Given the description of an element on the screen output the (x, y) to click on. 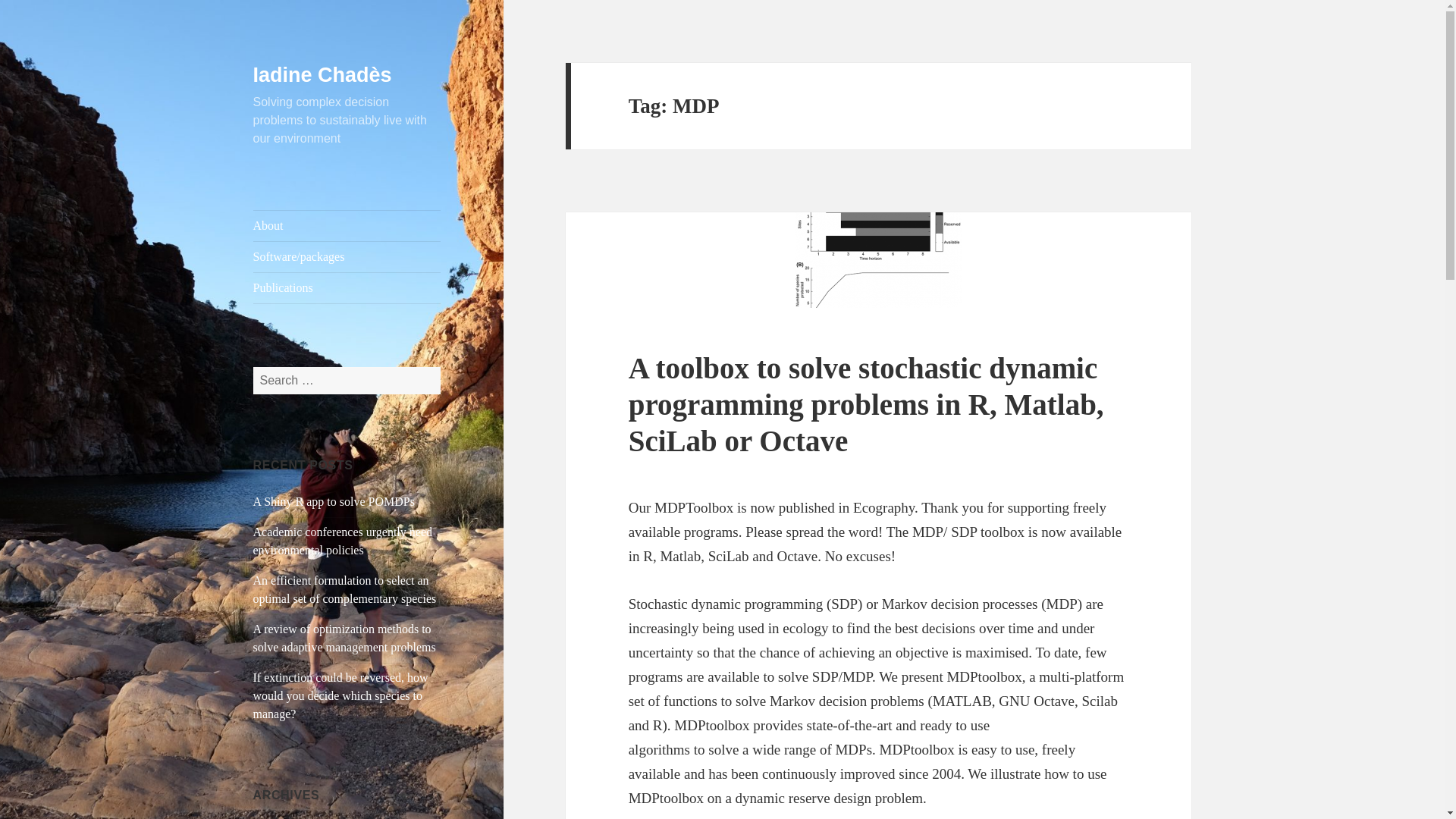
A Shiny R app to solve POMDPs (333, 501)
Academic conferences urgently need environmental policies (342, 540)
About (347, 225)
Publications (347, 287)
